Given the description of an element on the screen output the (x, y) to click on. 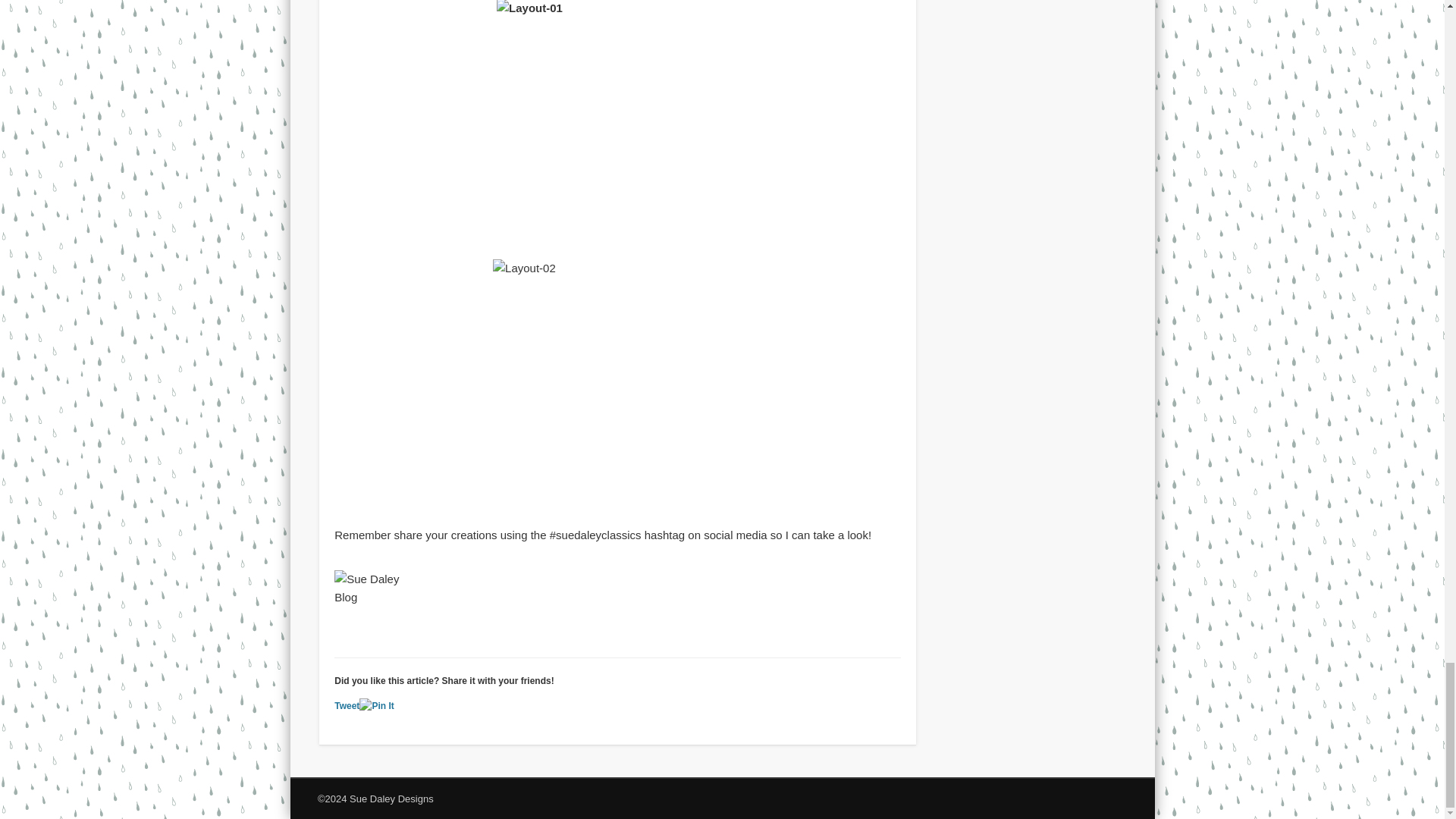
Pin It (376, 706)
Tweet (346, 706)
